Given the description of an element on the screen output the (x, y) to click on. 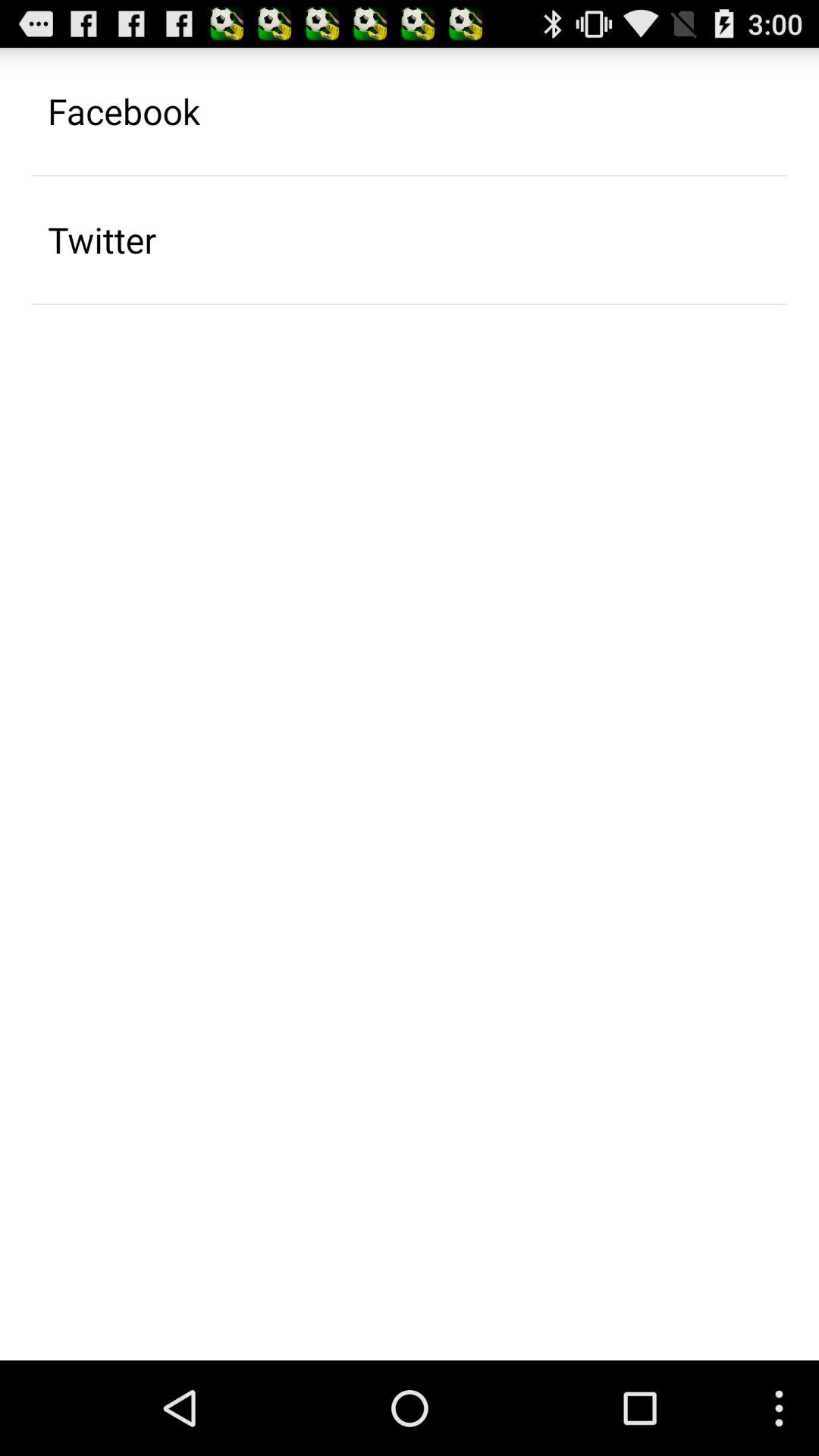
press the app above twitter item (123, 111)
